Given the description of an element on the screen output the (x, y) to click on. 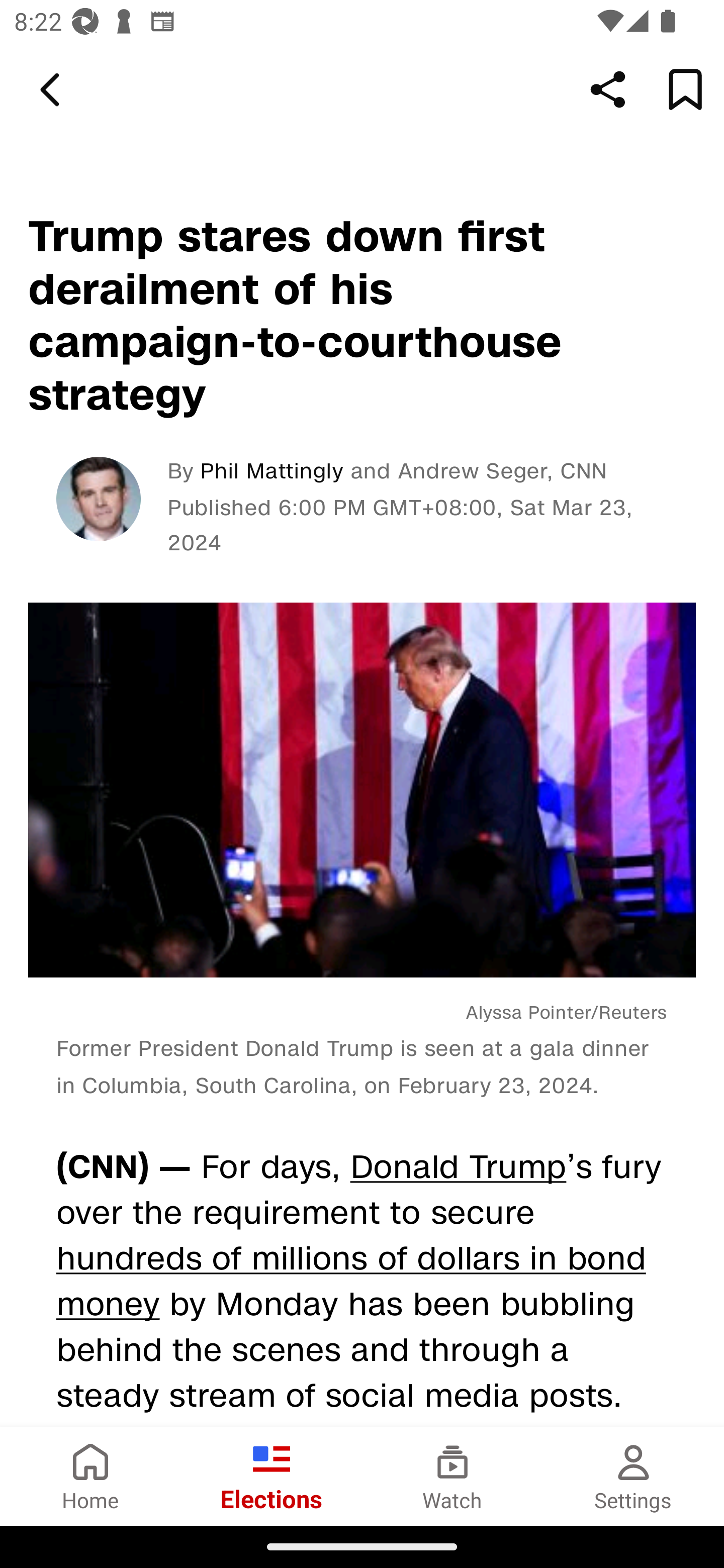
Back Button (52, 89)
Share (607, 89)
Bookmark (685, 89)
Home (90, 1475)
Watch (452, 1475)
Settings (633, 1475)
